Given the description of an element on the screen output the (x, y) to click on. 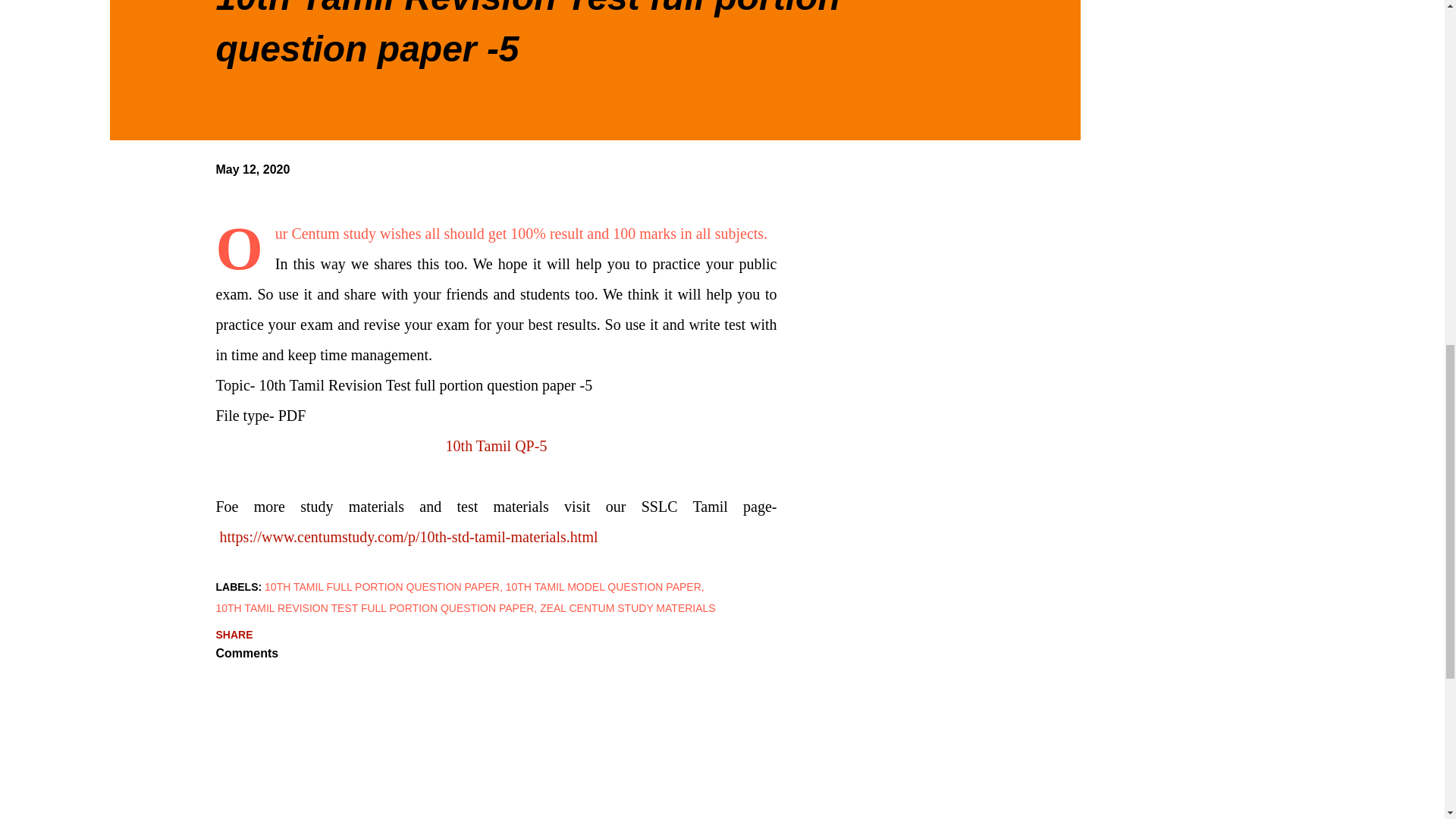
10TH TAMIL MODEL QUESTION PAPER (604, 586)
10TH TAMIL FULL PORTION QUESTION PAPER (383, 586)
May 12, 2020 (252, 169)
10th Tamil QP-5 (496, 445)
10TH TAMIL REVISION TEST FULL PORTION QUESTION PAPER (376, 608)
permanent link (252, 169)
